Given the description of an element on the screen output the (x, y) to click on. 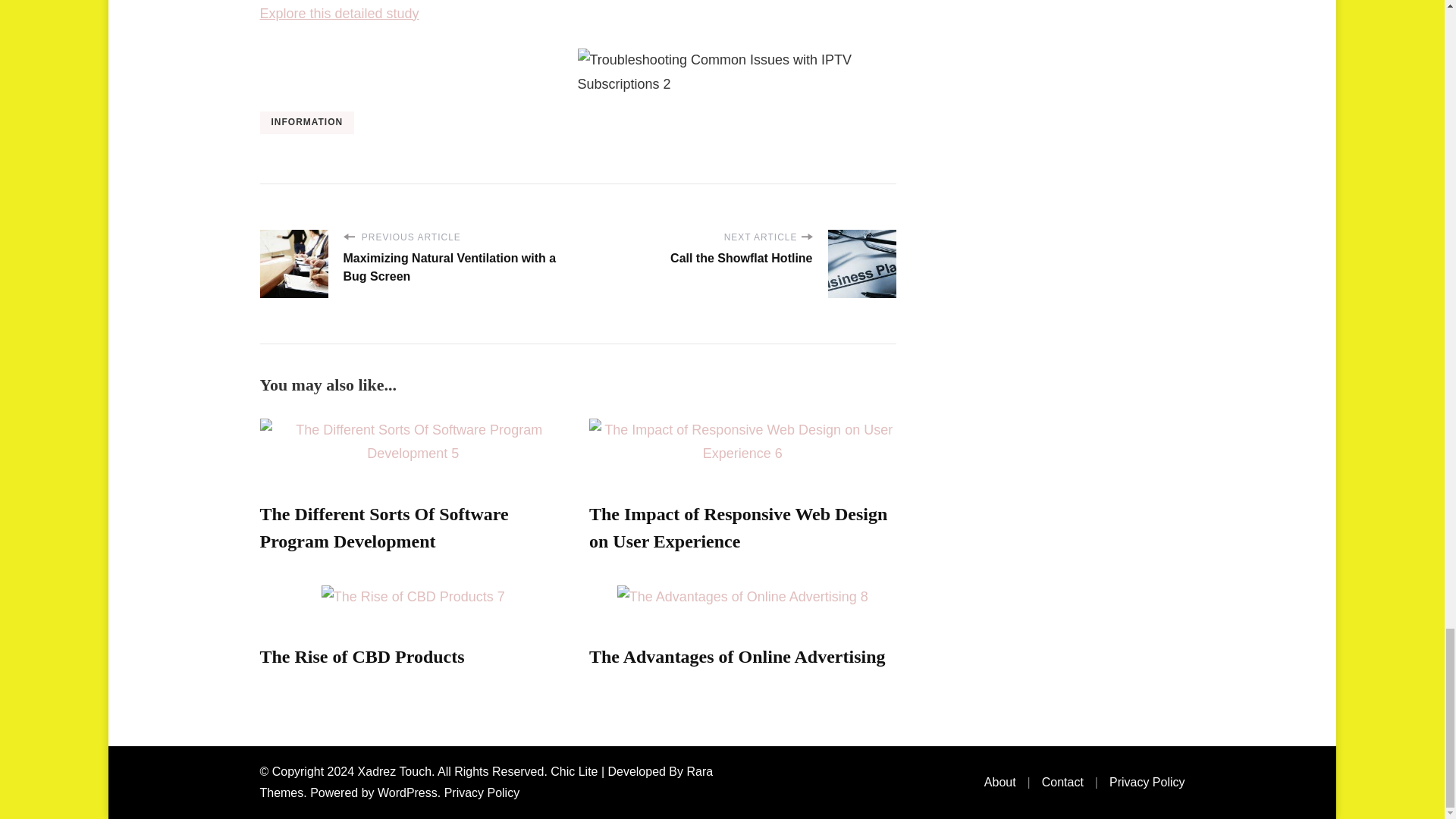
The Different Sorts Of Software Program Development (383, 527)
Explore this detailed study (339, 13)
The Advantages of Online Advertising (737, 656)
The Rise of CBD Products (361, 656)
The Impact of Responsive Web Design on User Experience (737, 527)
INFORMATION (306, 122)
